Given the description of an element on the screen output the (x, y) to click on. 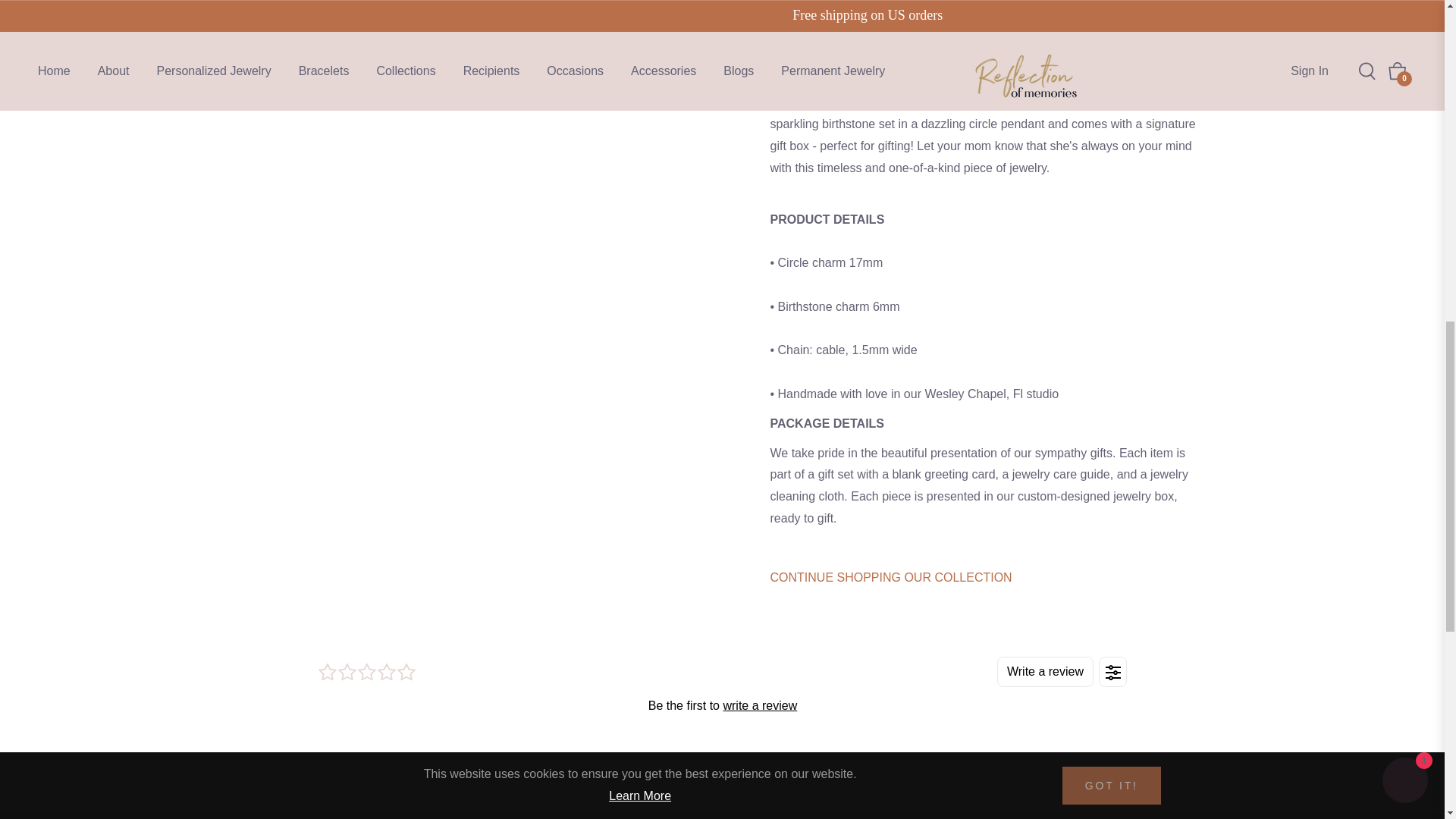
Product reviews widget (722, 685)
